Given the description of an element on the screen output the (x, y) to click on. 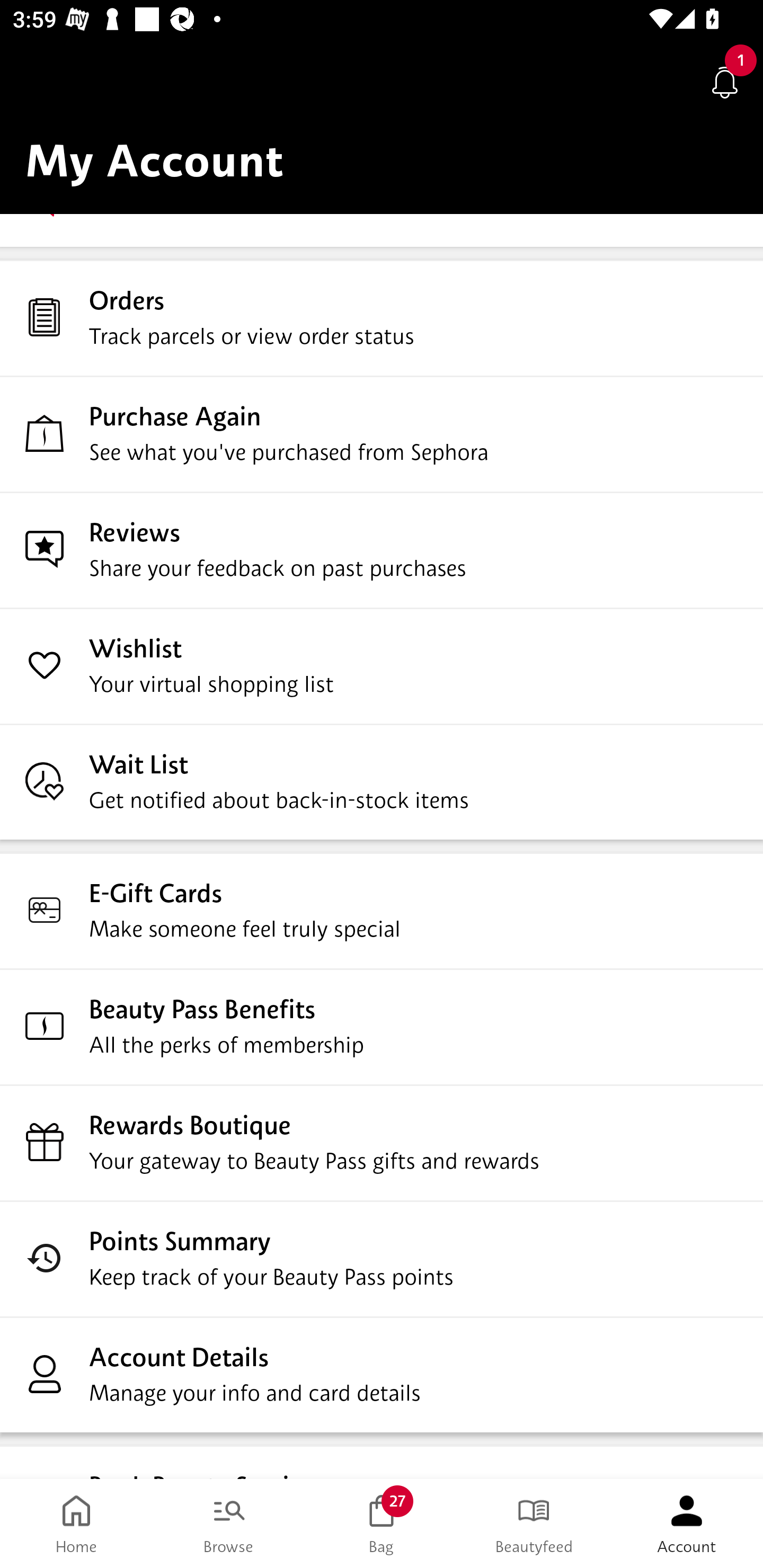
Notifications (724, 81)
Orders Track parcels or view order status (381, 318)
Reviews Share your feedback on past purchases (381, 550)
Wishlist Your virtual shopping list (381, 665)
Wait List Get notified about back-in-stock items (381, 780)
E-Gift Cards Make someone feel truly special (381, 910)
Beauty Pass Benefits All the perks of membership (381, 1027)
Account Details Manage your info and card details (381, 1375)
Home (76, 1523)
Browse (228, 1523)
Bag 27 Bag (381, 1523)
Beautyfeed (533, 1523)
